Given the description of an element on the screen output the (x, y) to click on. 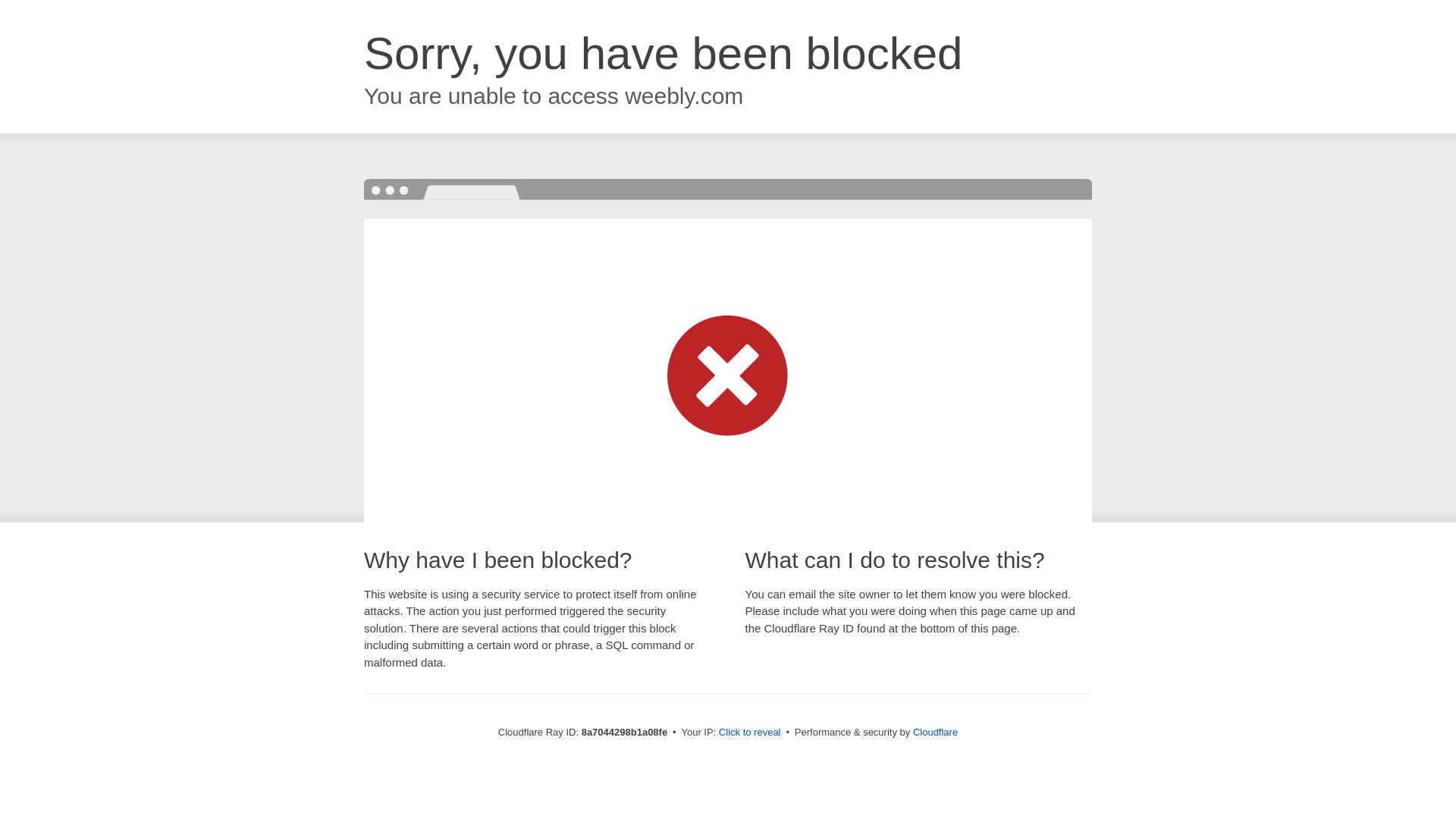
Cloudflare (935, 731)
Click to reveal (749, 732)
